Given the description of an element on the screen output the (x, y) to click on. 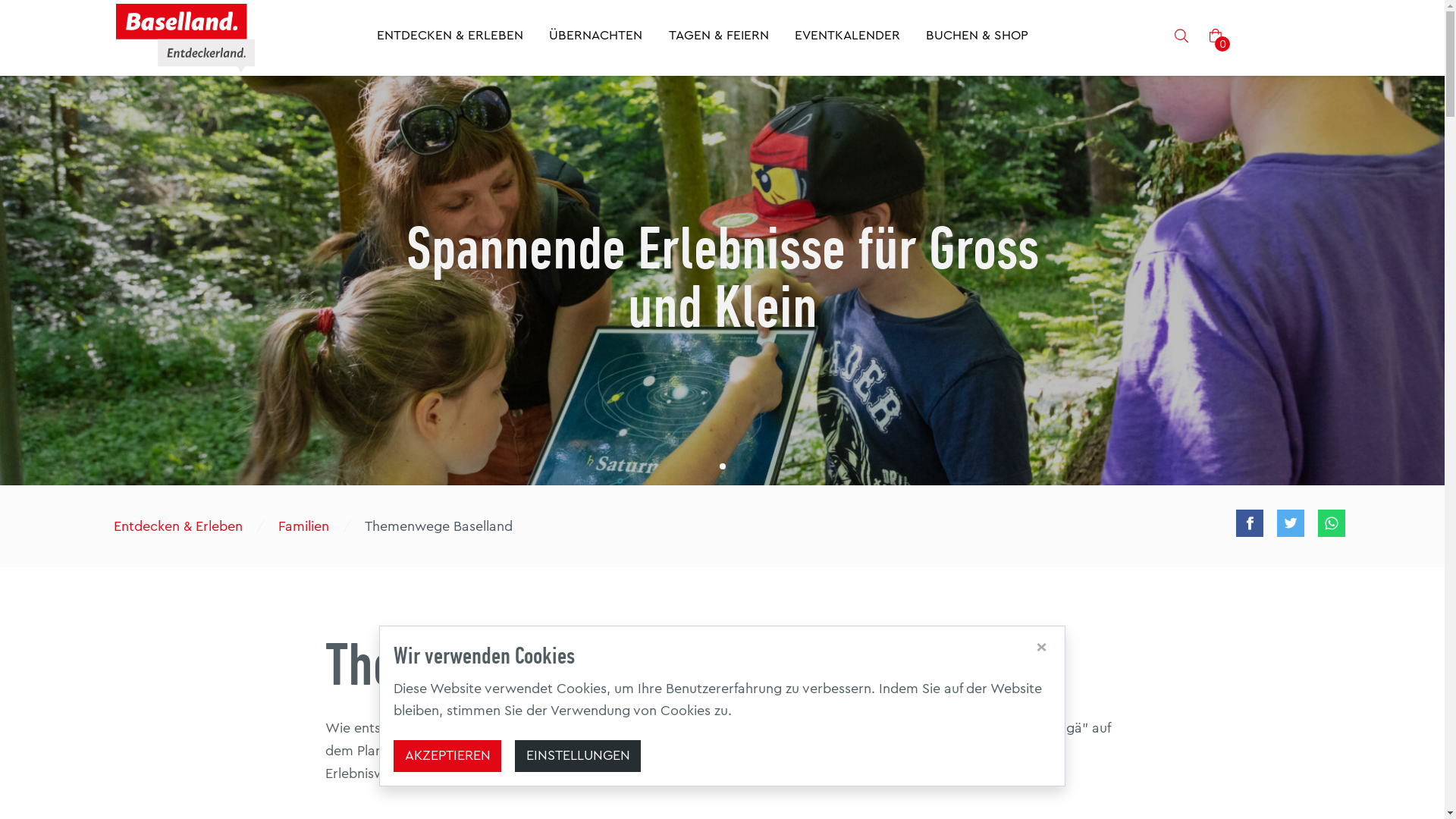
TAGEN & FEIERN Element type: text (718, 37)
EINSTELLUNGEN Element type: text (577, 756)
Baselland Tourismus Element type: hover (184, 37)
Familien Element type: text (303, 525)
AKZEPTIEREN Element type: text (447, 756)
ENTDECKEN & ERLEBEN Element type: text (449, 37)
BUCHEN & SHOP Element type: text (976, 37)
SUCHE Element type: text (1181, 37)
EVENTKALENDER Element type: text (847, 37)
Warenkorb
0 Element type: text (1215, 37)
Entdecken & Erleben Element type: text (177, 525)
